Given the description of an element on the screen output the (x, y) to click on. 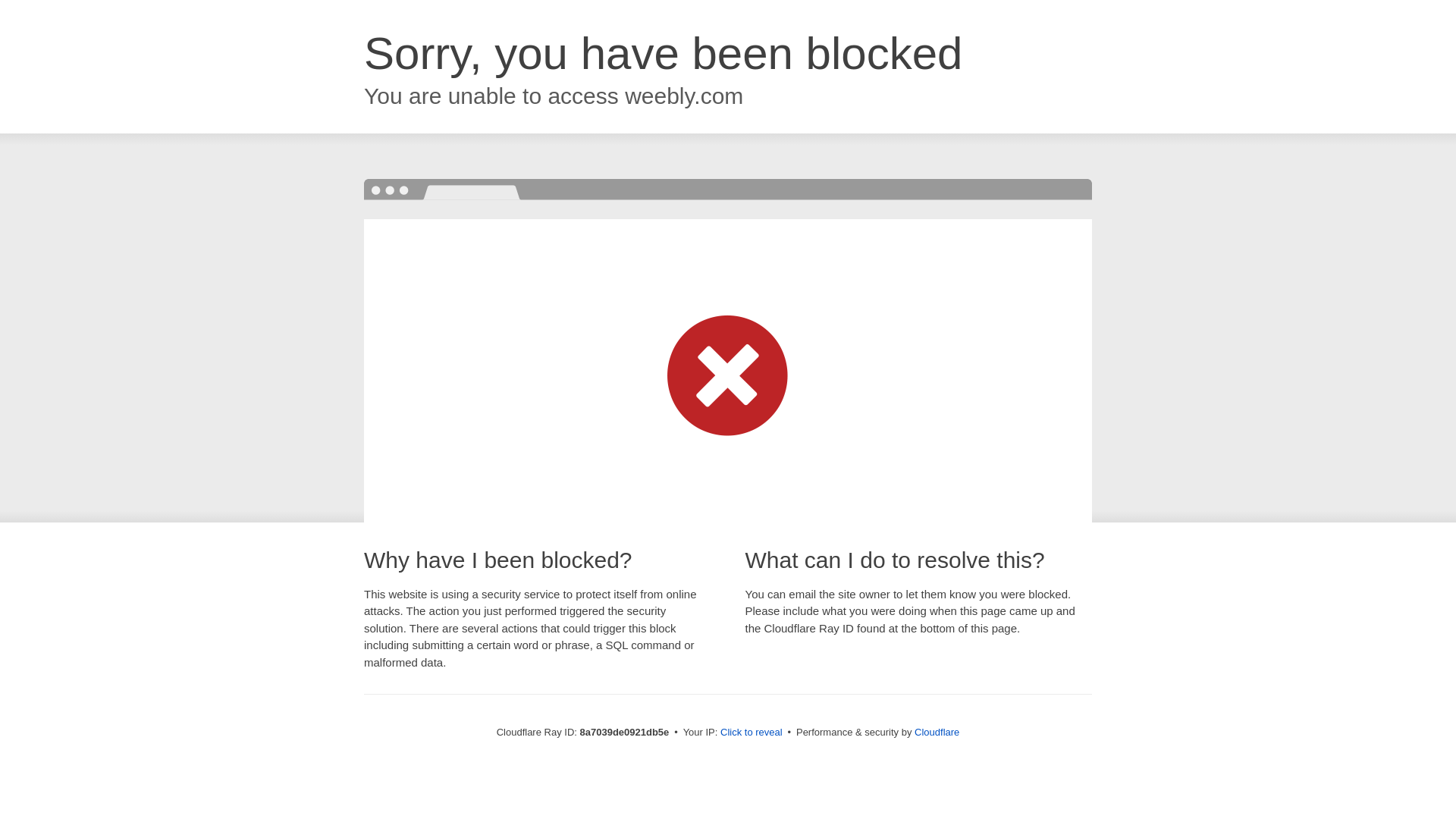
Cloudflare (936, 731)
Click to reveal (751, 732)
